Given the description of an element on the screen output the (x, y) to click on. 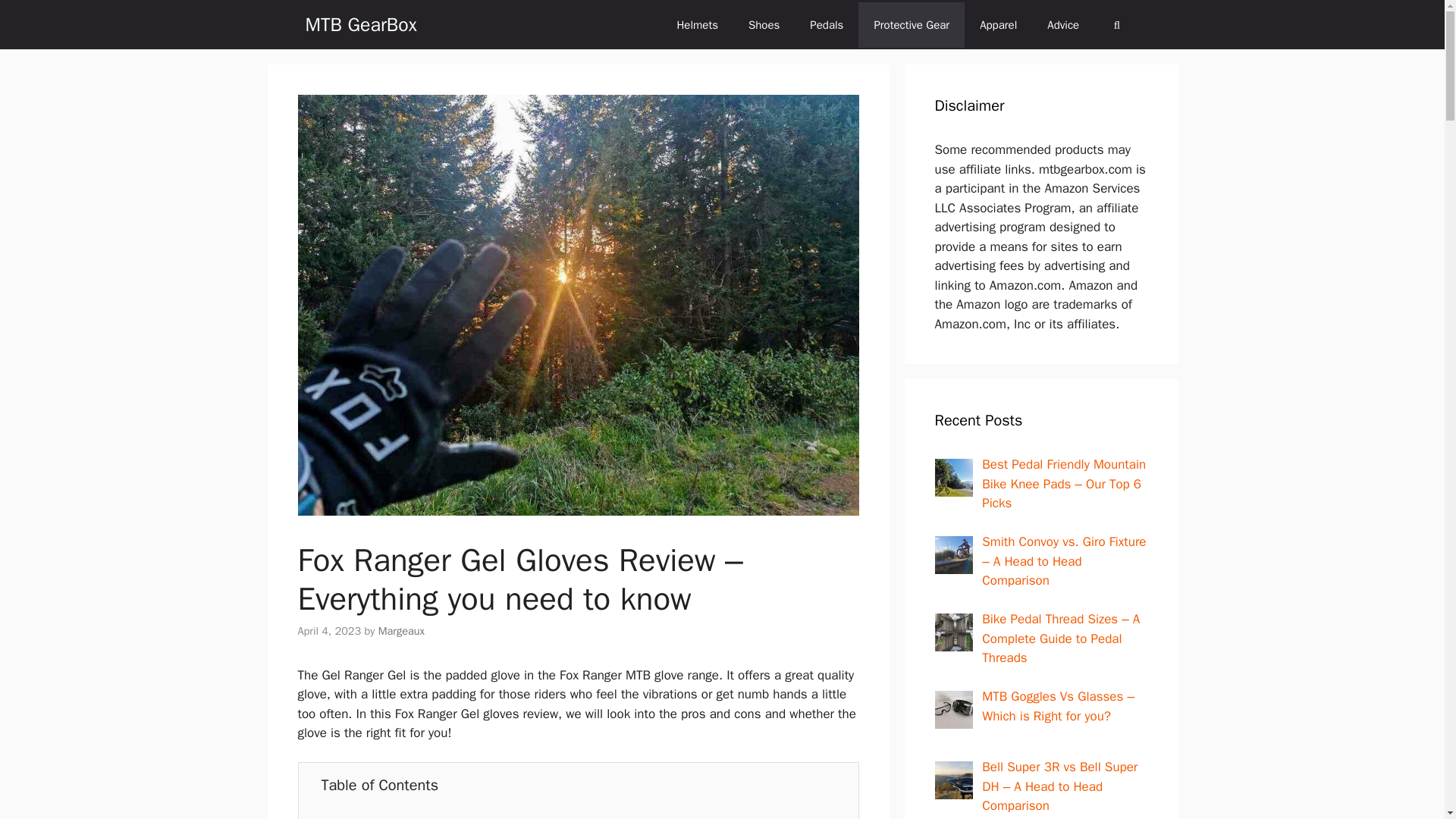
View all posts by Margeaux (401, 631)
Shoes (763, 23)
Protective Gear (911, 23)
Margeaux (401, 631)
MTB GearBox (360, 24)
Pedals (826, 23)
Apparel (997, 23)
Advice (1063, 23)
Helmets (697, 23)
